Given the description of an element on the screen output the (x, y) to click on. 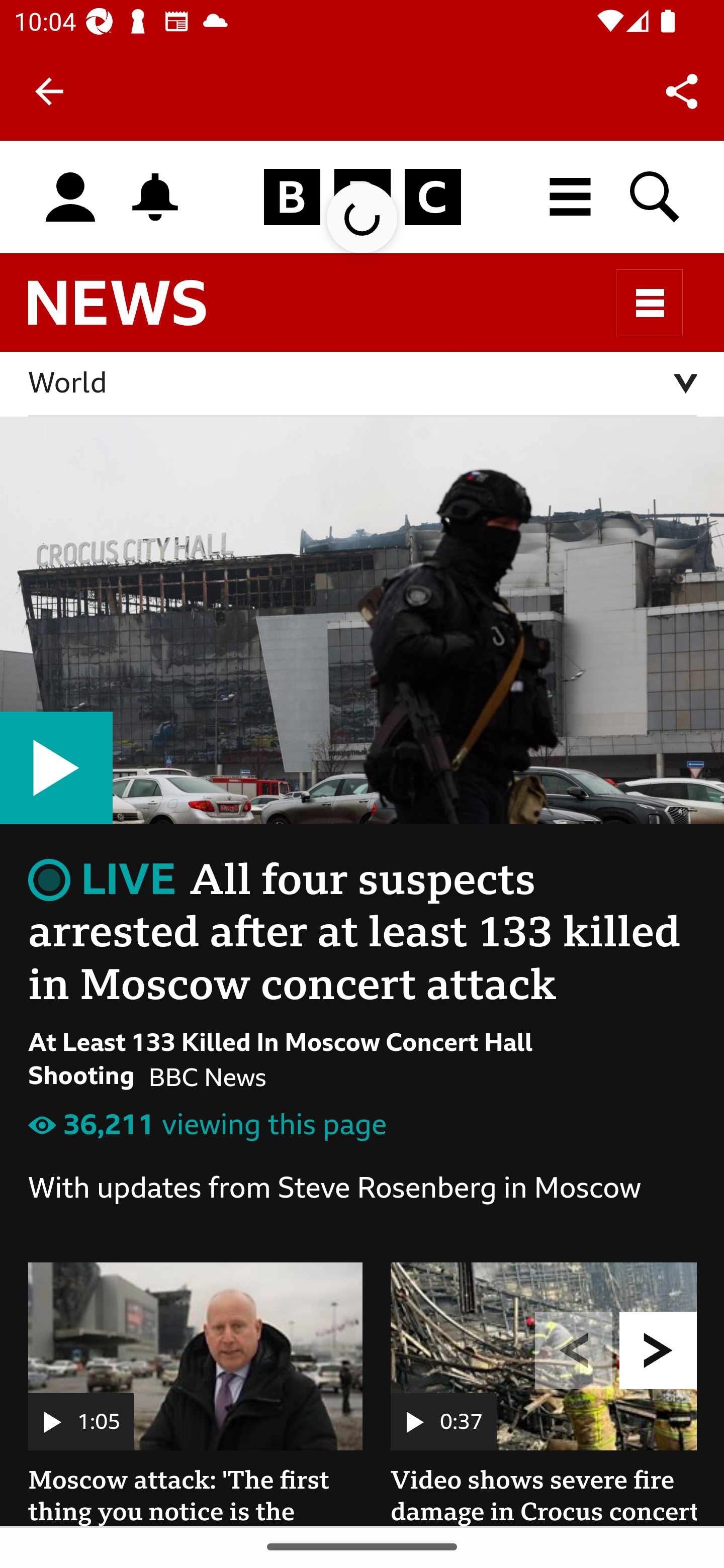
Back (49, 91)
Share (681, 90)
